Given the description of an element on the screen output the (x, y) to click on. 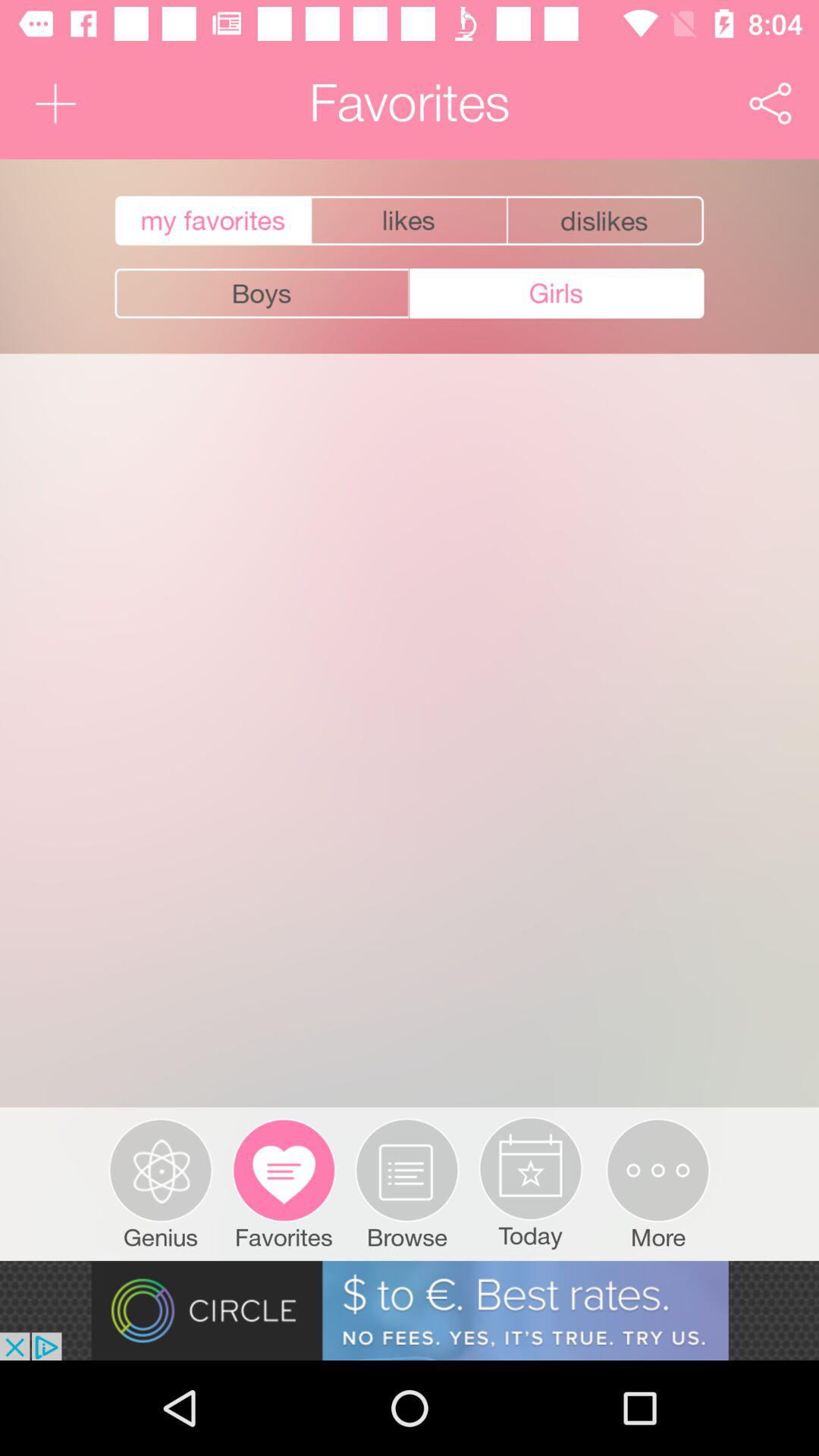
click advertisement (409, 1310)
